Given the description of an element on the screen output the (x, y) to click on. 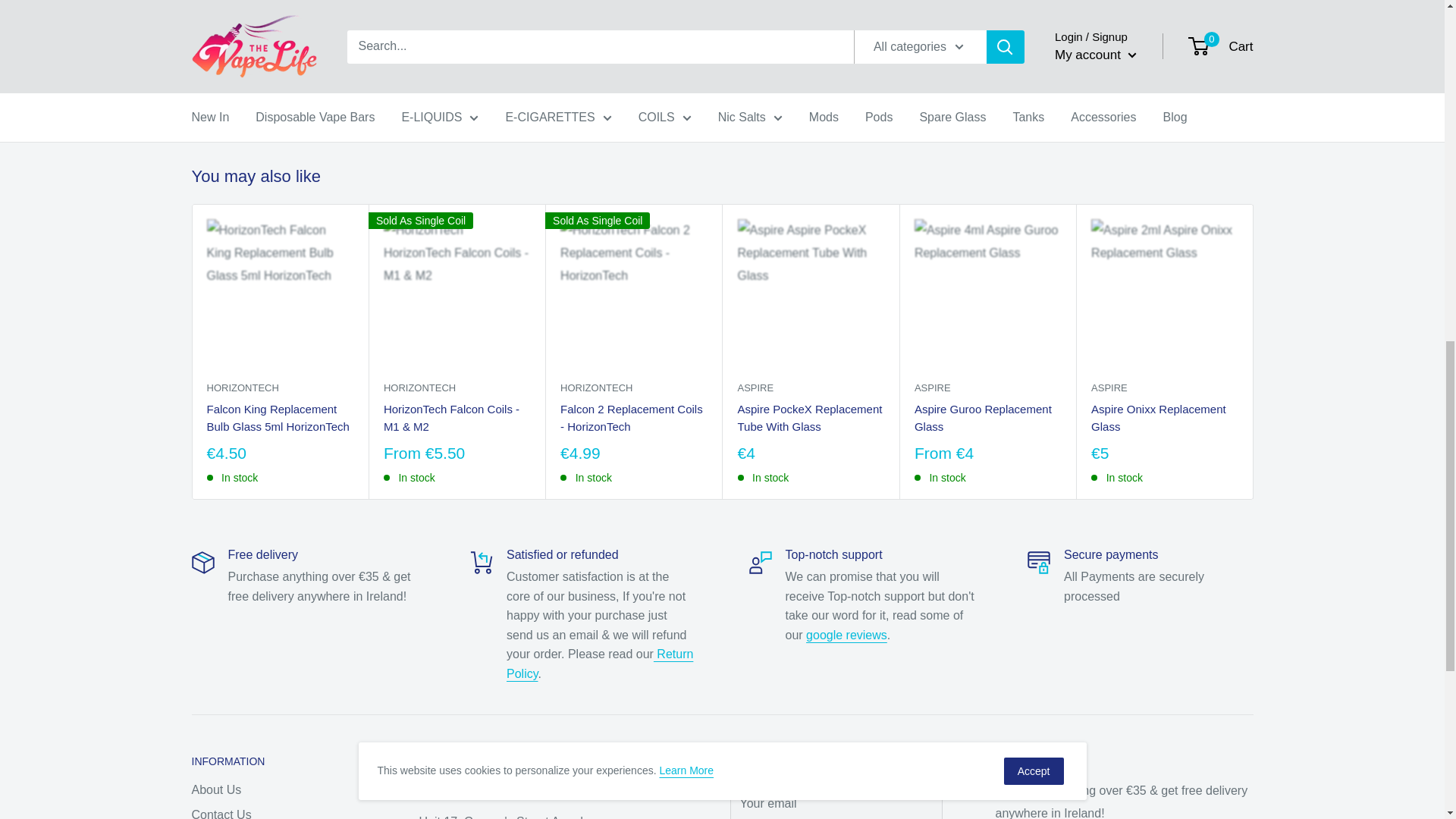
Return Policy (599, 663)
